Given the description of an element on the screen output the (x, y) to click on. 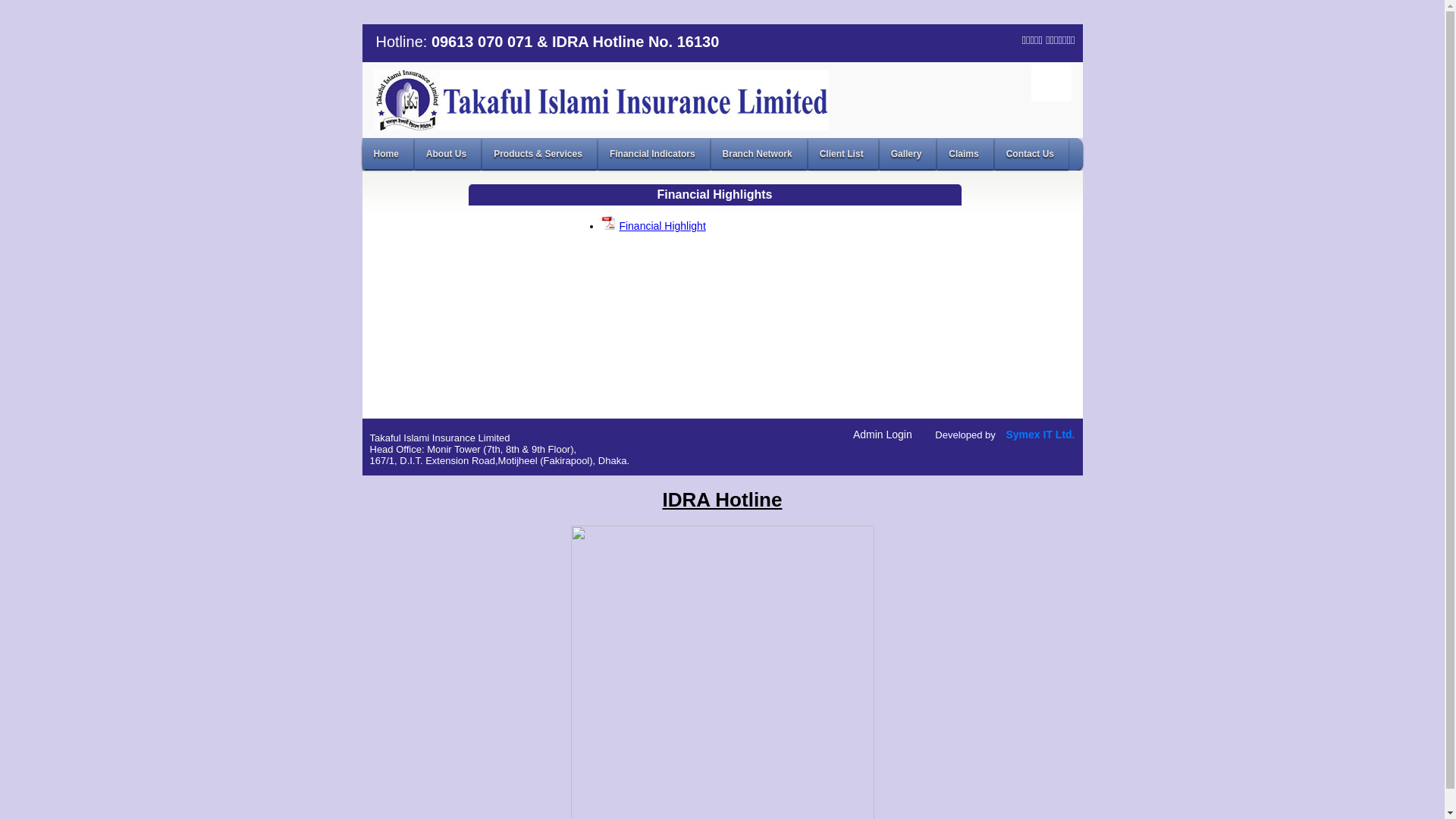
Financial Indicators Element type: text (653, 153)
About Us Element type: text (447, 153)
Home Element type: text (387, 153)
Gallery Element type: text (907, 153)
Client List Element type: text (843, 153)
Claims Element type: text (964, 153)
Financial Highlight Element type: text (661, 225)
Admin Login Element type: text (882, 434)
Contact Us Element type: text (1031, 153)
Products & Services Element type: text (539, 153)
Branch Network Element type: text (758, 153)
Symex IT Ltd. Element type: text (1039, 434)
